Given the description of an element on the screen output the (x, y) to click on. 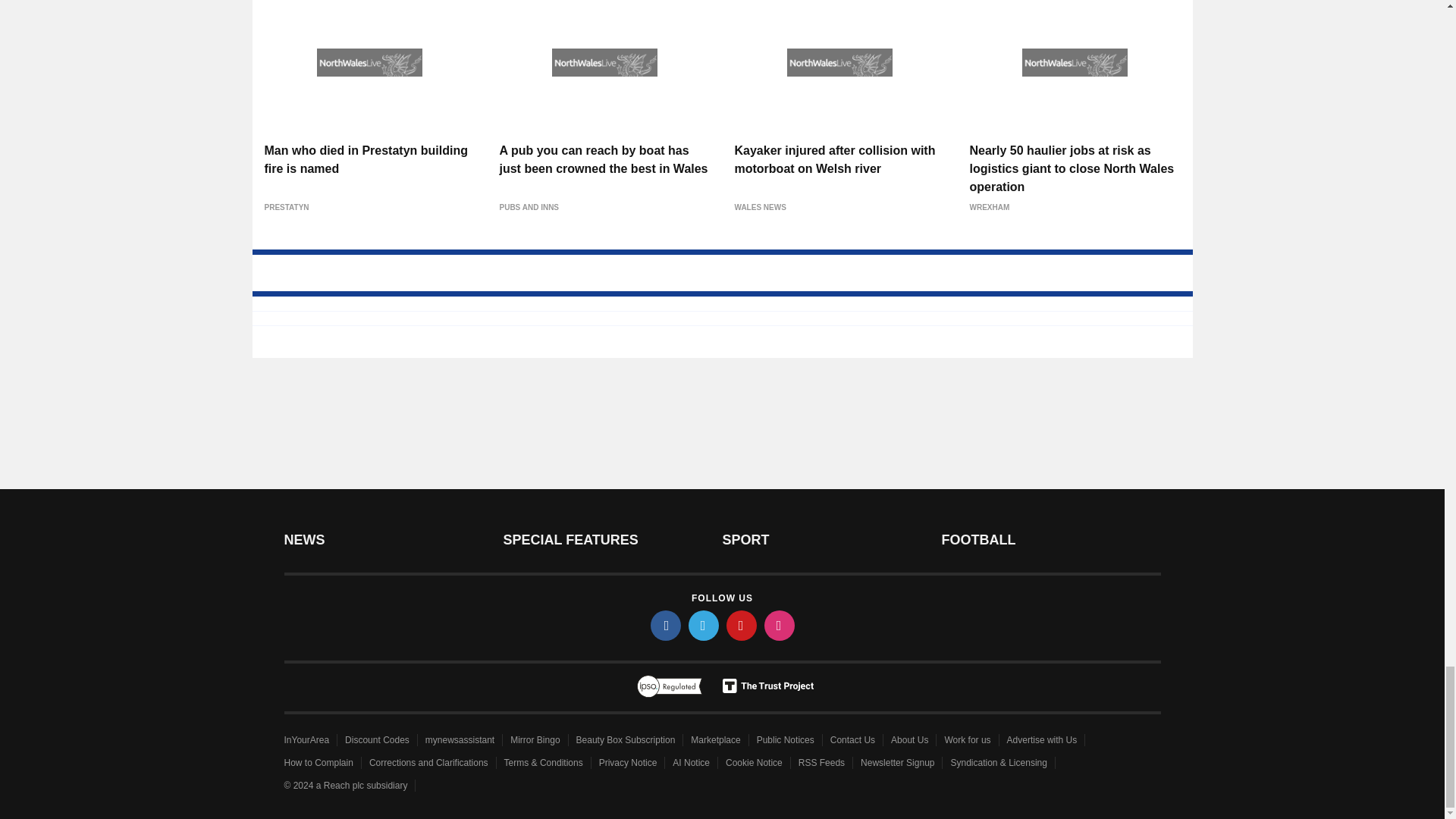
instagram (779, 625)
twitter (703, 625)
facebook (665, 625)
pinterest (741, 625)
